Given the description of an element on the screen output the (x, y) to click on. 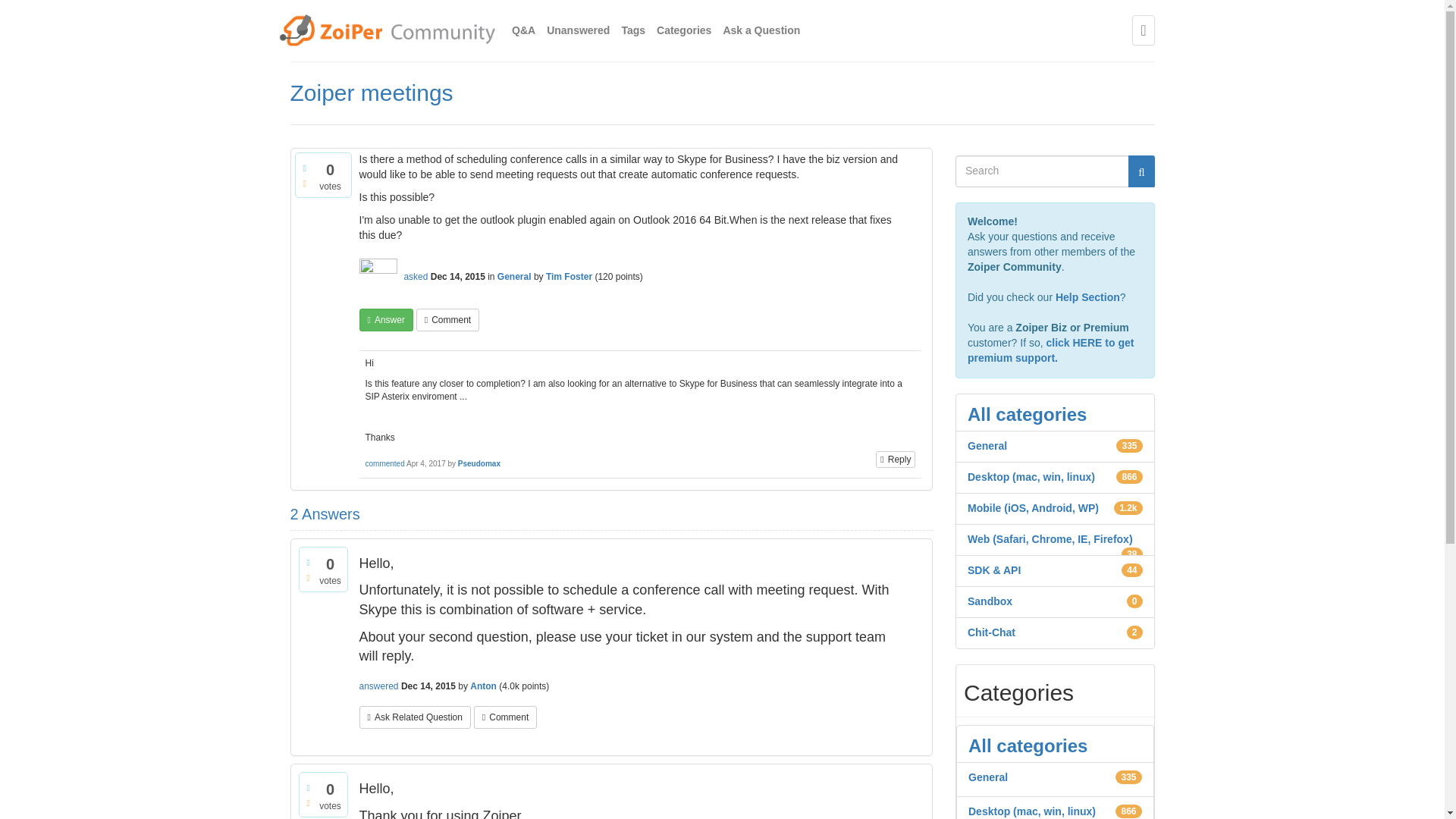
Comment (505, 716)
Ask Related Question (414, 716)
Categories (683, 30)
Comment (447, 319)
Ask a Question (760, 30)
commented (384, 463)
Tim Foster (569, 276)
Zoiper meetings (370, 92)
Pseudomax (479, 463)
General (514, 276)
